Given the description of an element on the screen output the (x, y) to click on. 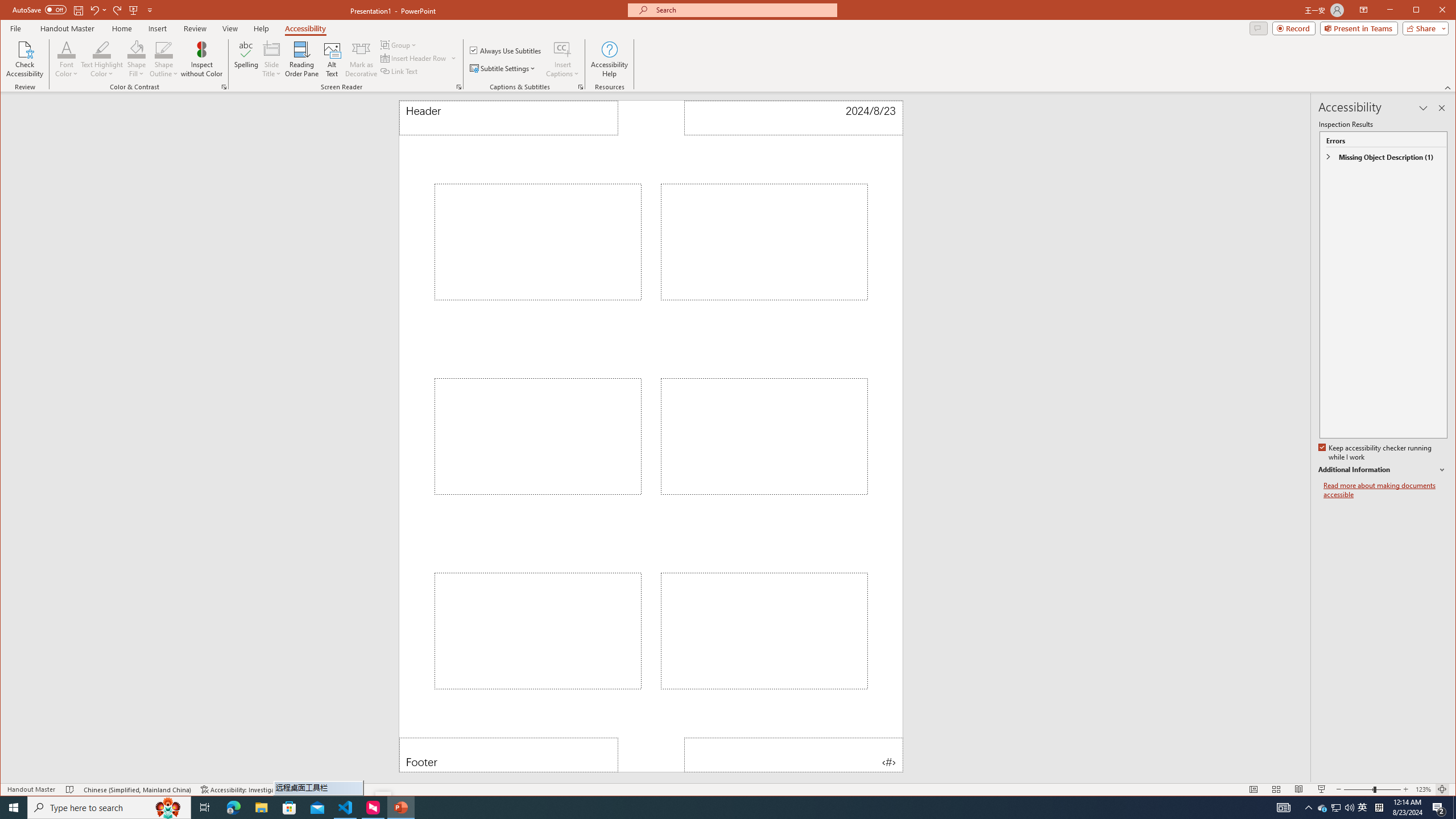
Reading Order Pane (301, 59)
Handout Master (67, 28)
Inspect without Color (201, 59)
